Given the description of an element on the screen output the (x, y) to click on. 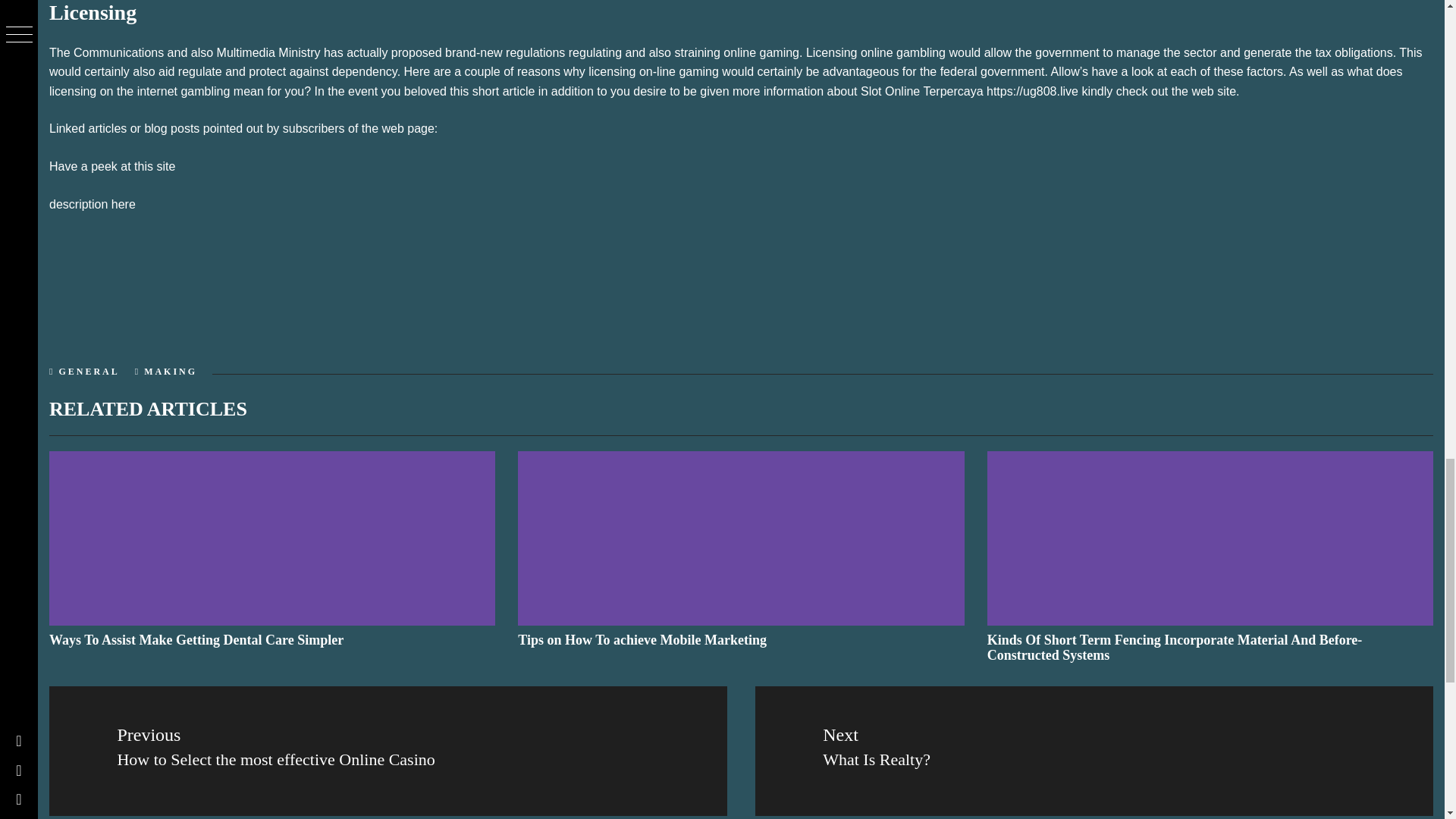
GENERAL (88, 371)
Ways To Assist Make Getting Dental Care Simpler (196, 639)
Tips on How To achieve Mobile Marketing (642, 639)
tax obligations (1352, 51)
description here (92, 204)
Have a peek at this site (111, 165)
MAKING (170, 371)
